Given the description of an element on the screen output the (x, y) to click on. 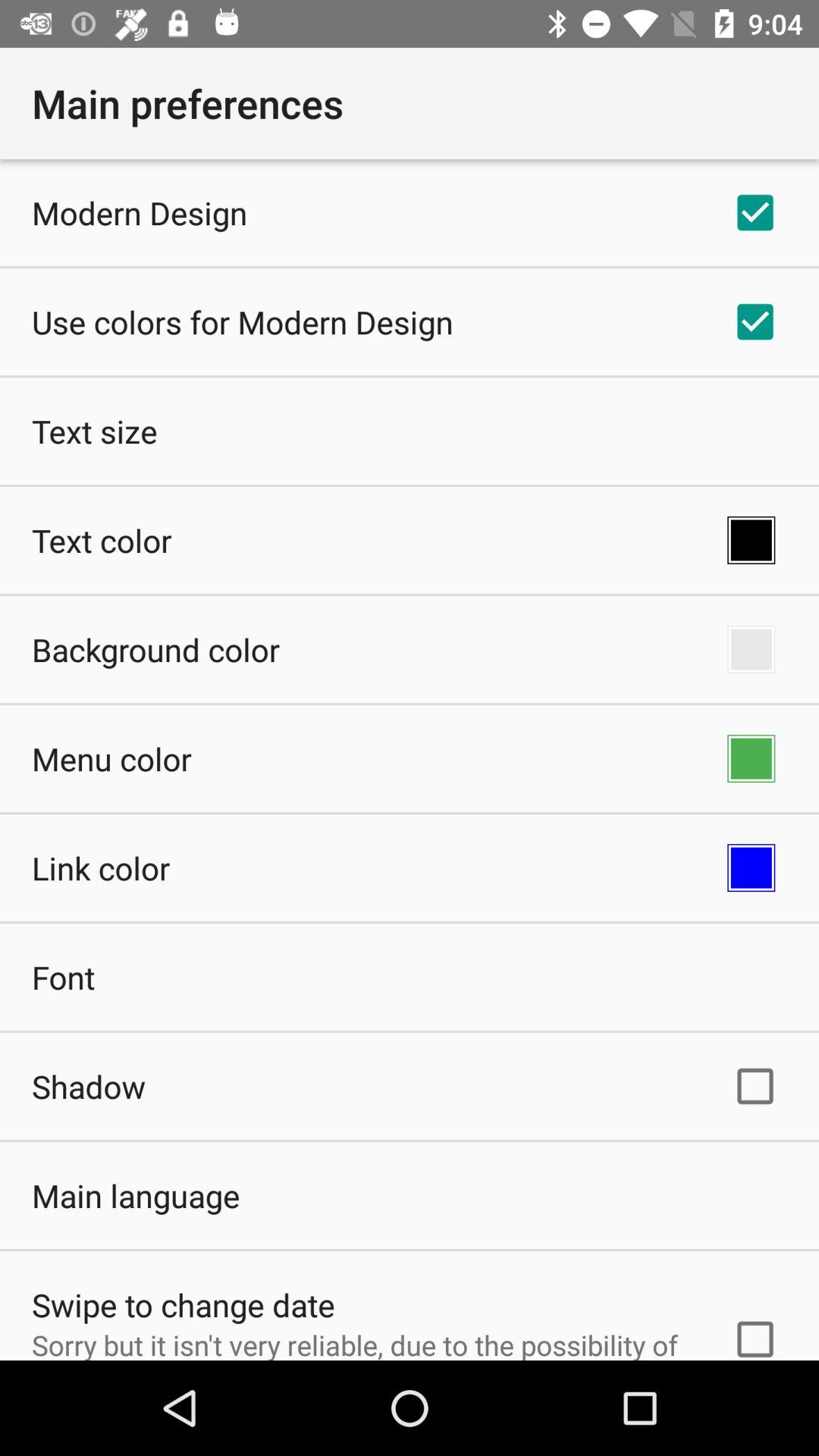
click item above the swipe to change icon (135, 1195)
